Given the description of an element on the screen output the (x, y) to click on. 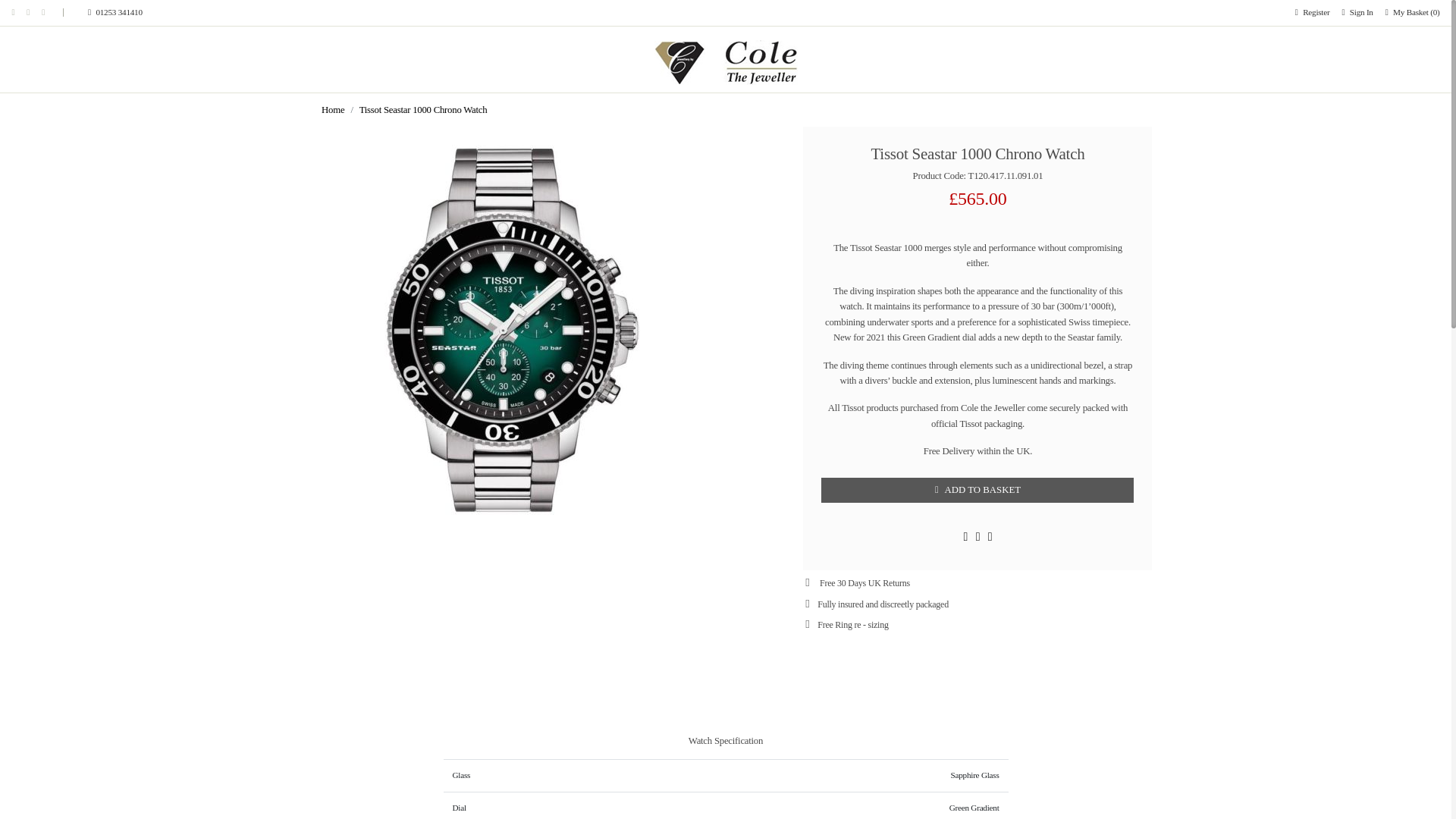
Register (1312, 12)
ADD TO BASKET (977, 489)
01253 341410 (99, 12)
Home (332, 109)
Sign In (1356, 12)
Tissot Seastar 1000 Chrono Watch (423, 109)
Sign In (1356, 12)
